Given the description of an element on the screen output the (x, y) to click on. 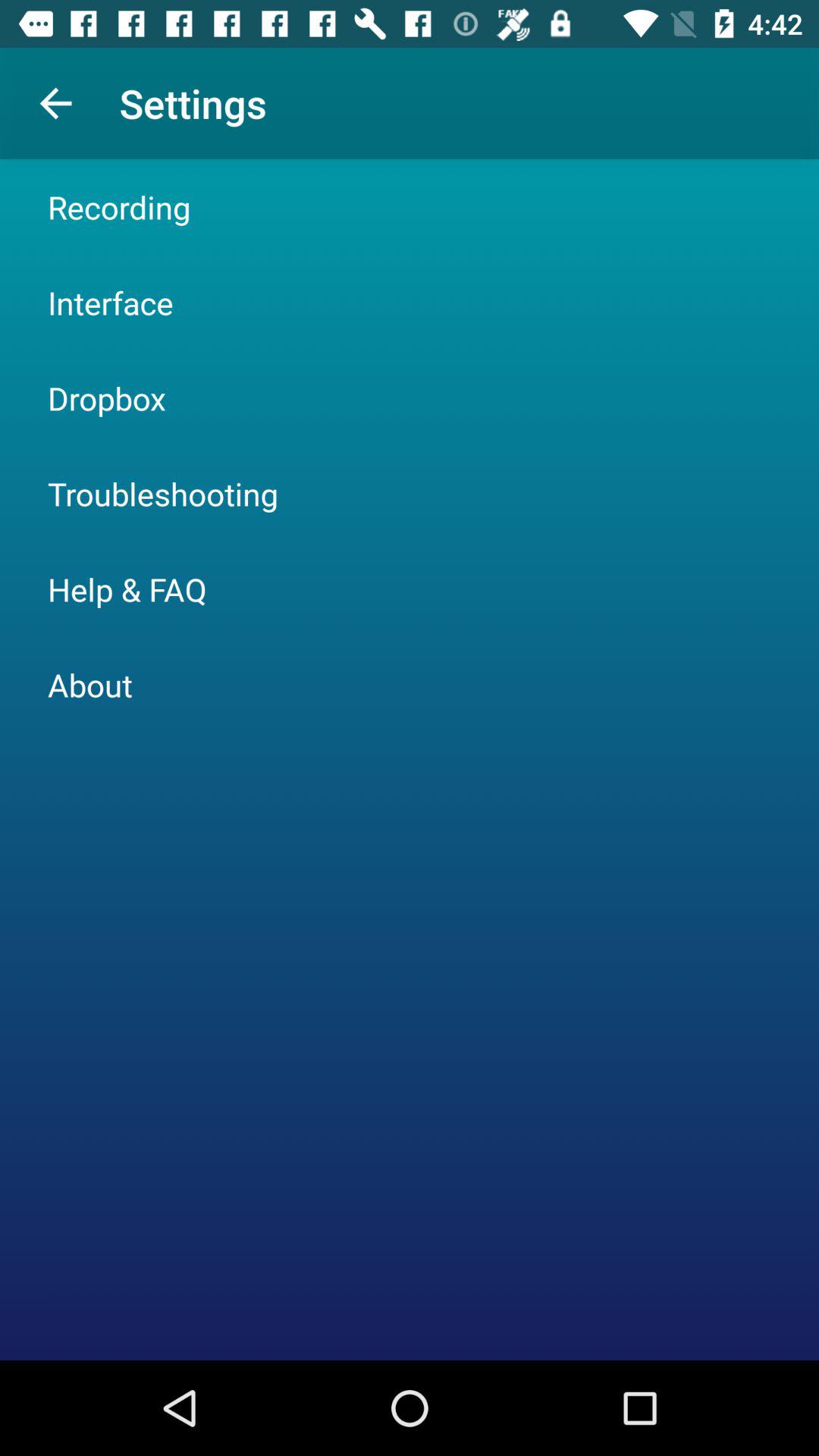
tap the interface (110, 302)
